Given the description of an element on the screen output the (x, y) to click on. 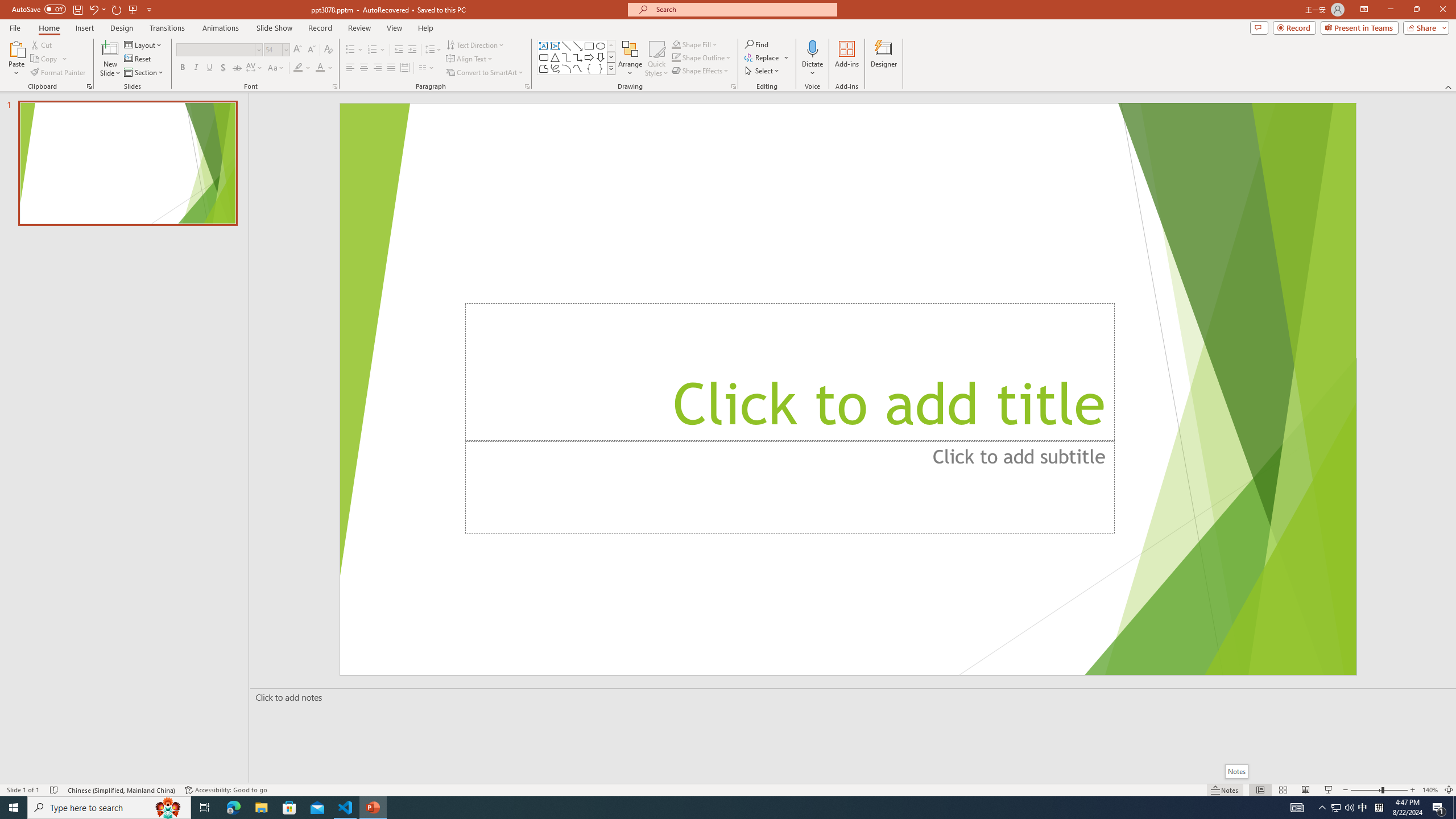
Zoom 140% (1430, 790)
